Given the description of an element on the screen output the (x, y) to click on. 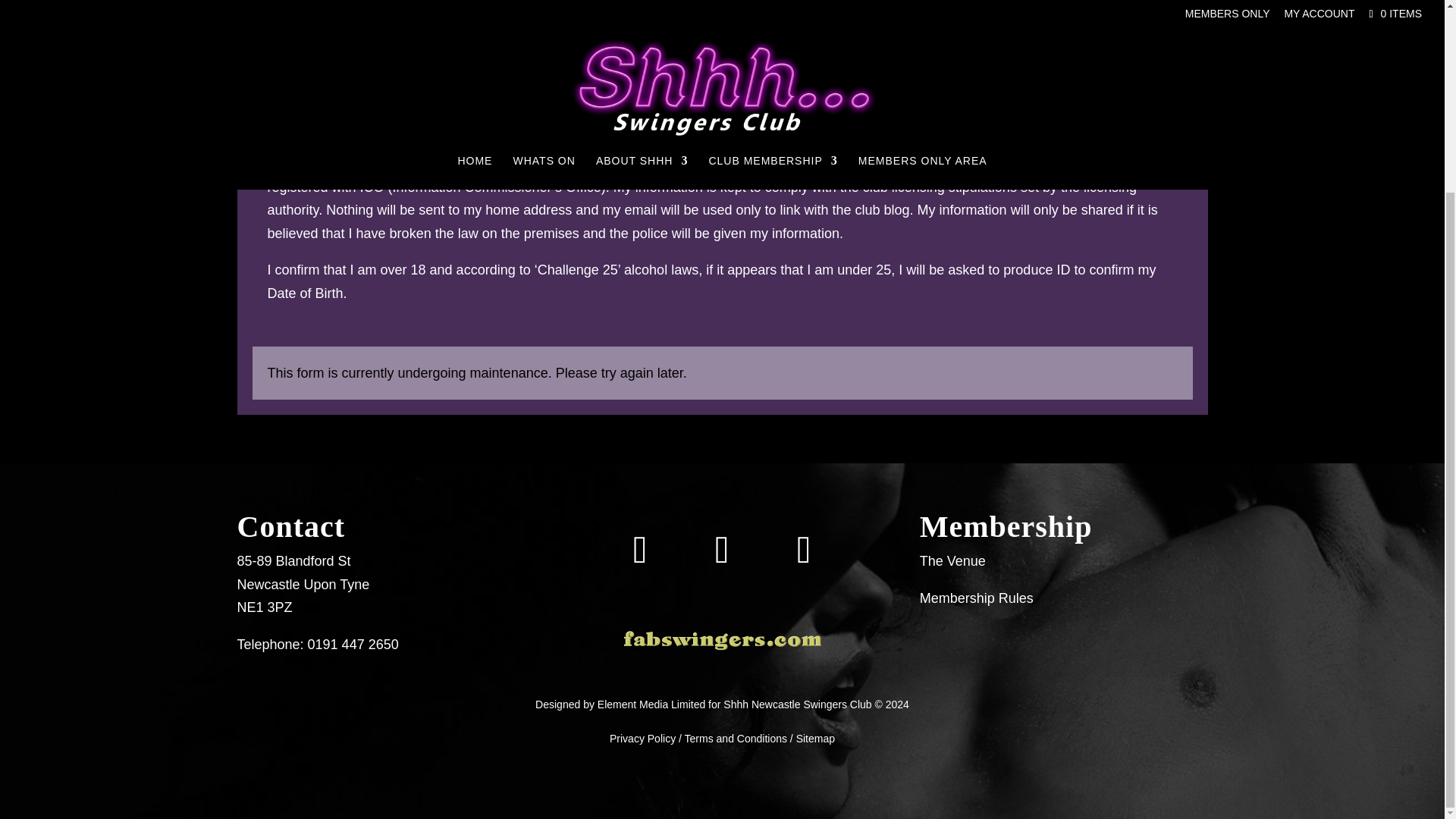
Follow on Facebook (803, 549)
Privacy Policy (642, 738)
The Venue (952, 560)
Terms and Conditions (735, 738)
Follow on Twitter (722, 549)
Membership Rules (976, 598)
Element Media Limited (650, 704)
Sitemap (815, 738)
Follow on Instagram (640, 549)
